Given the description of an element on the screen output the (x, y) to click on. 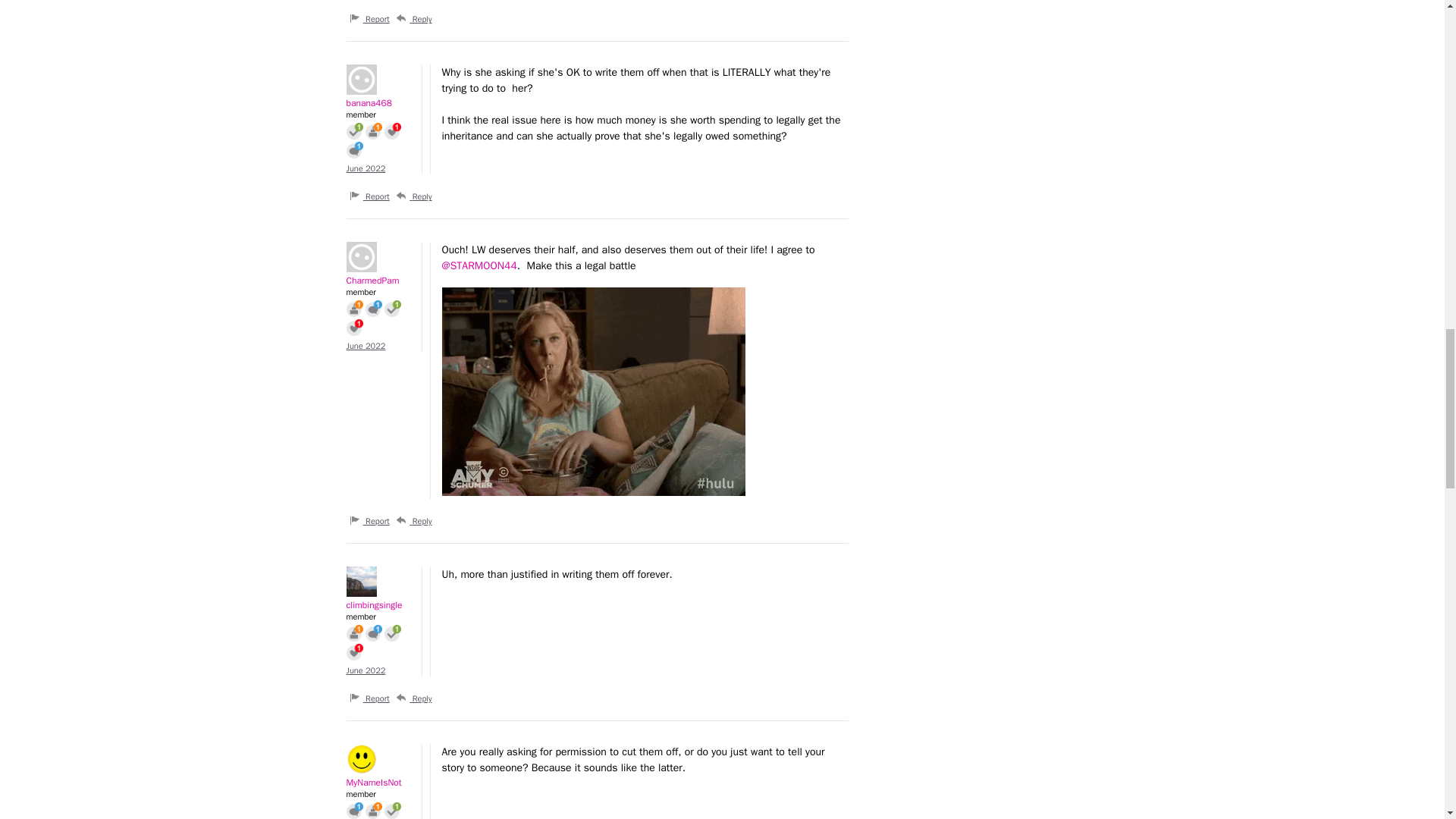
banana468 (376, 79)
Report (369, 18)
